Given the description of an element on the screen output the (x, y) to click on. 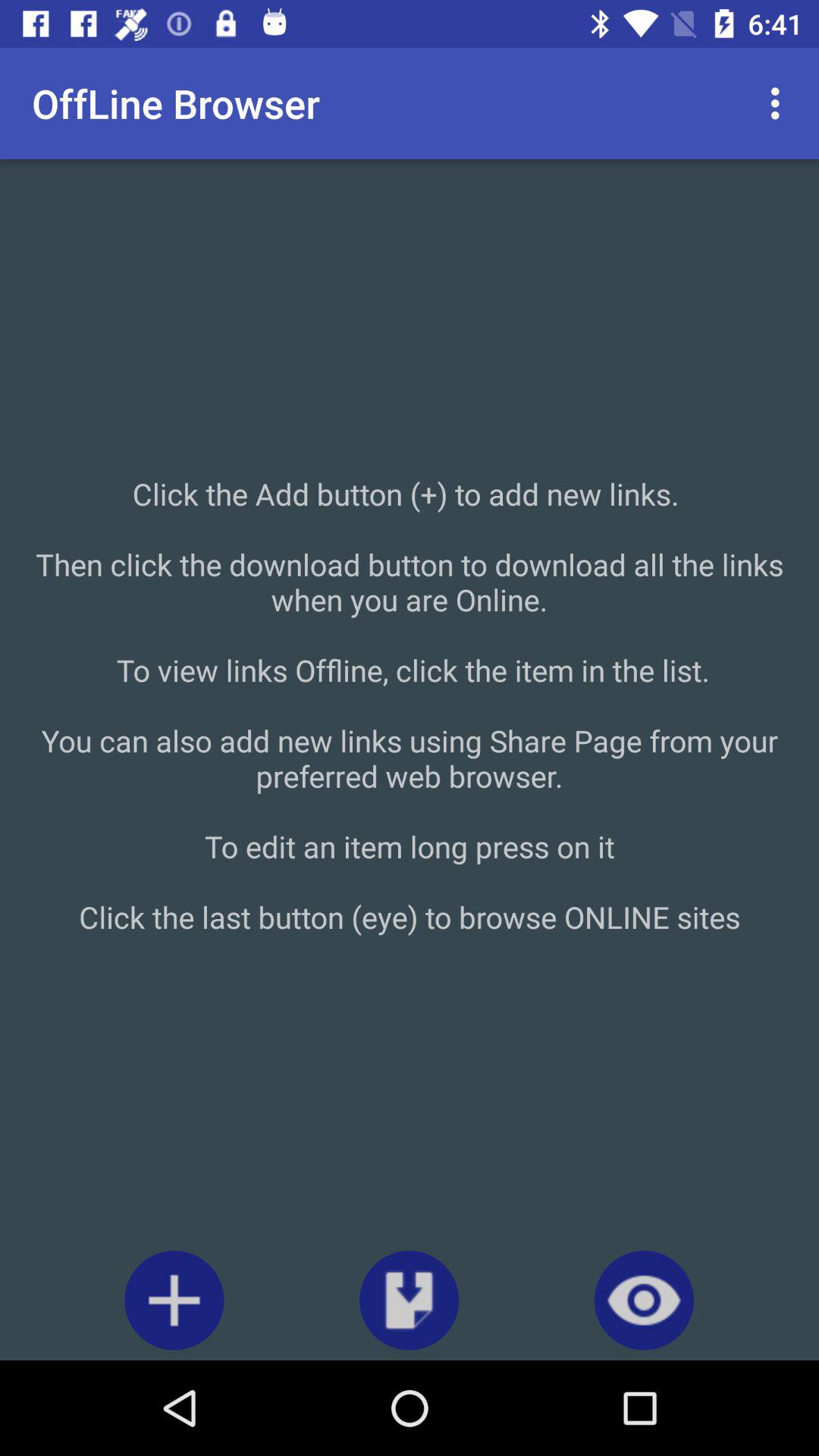
select the icon at the top right corner (779, 103)
